Given the description of an element on the screen output the (x, y) to click on. 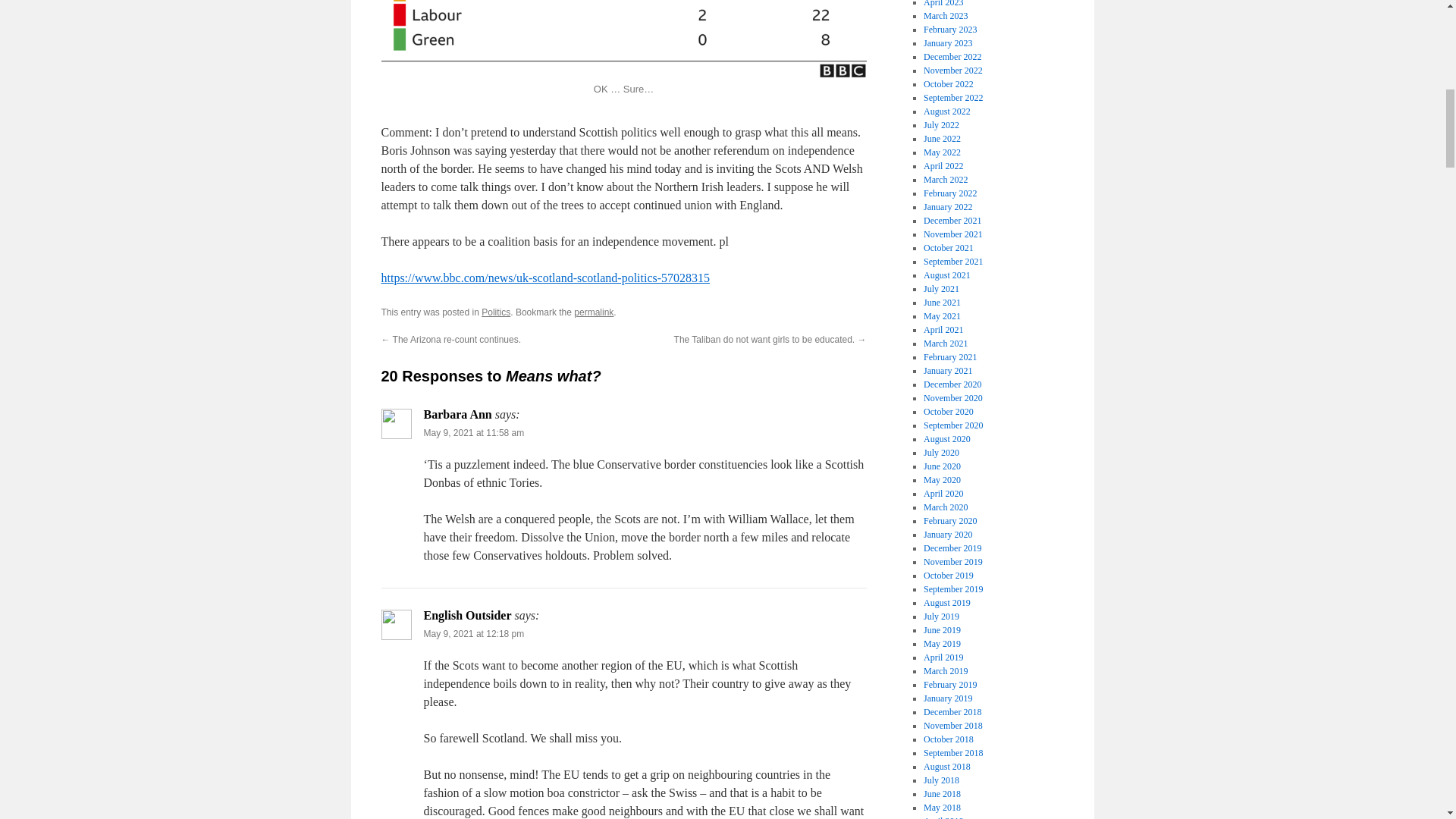
permalink (592, 312)
Politics (496, 312)
May 9, 2021 at 12:18 pm (473, 633)
May 9, 2021 at 11:58 am (473, 432)
Permalink to Means what? (592, 312)
